Given the description of an element on the screen output the (x, y) to click on. 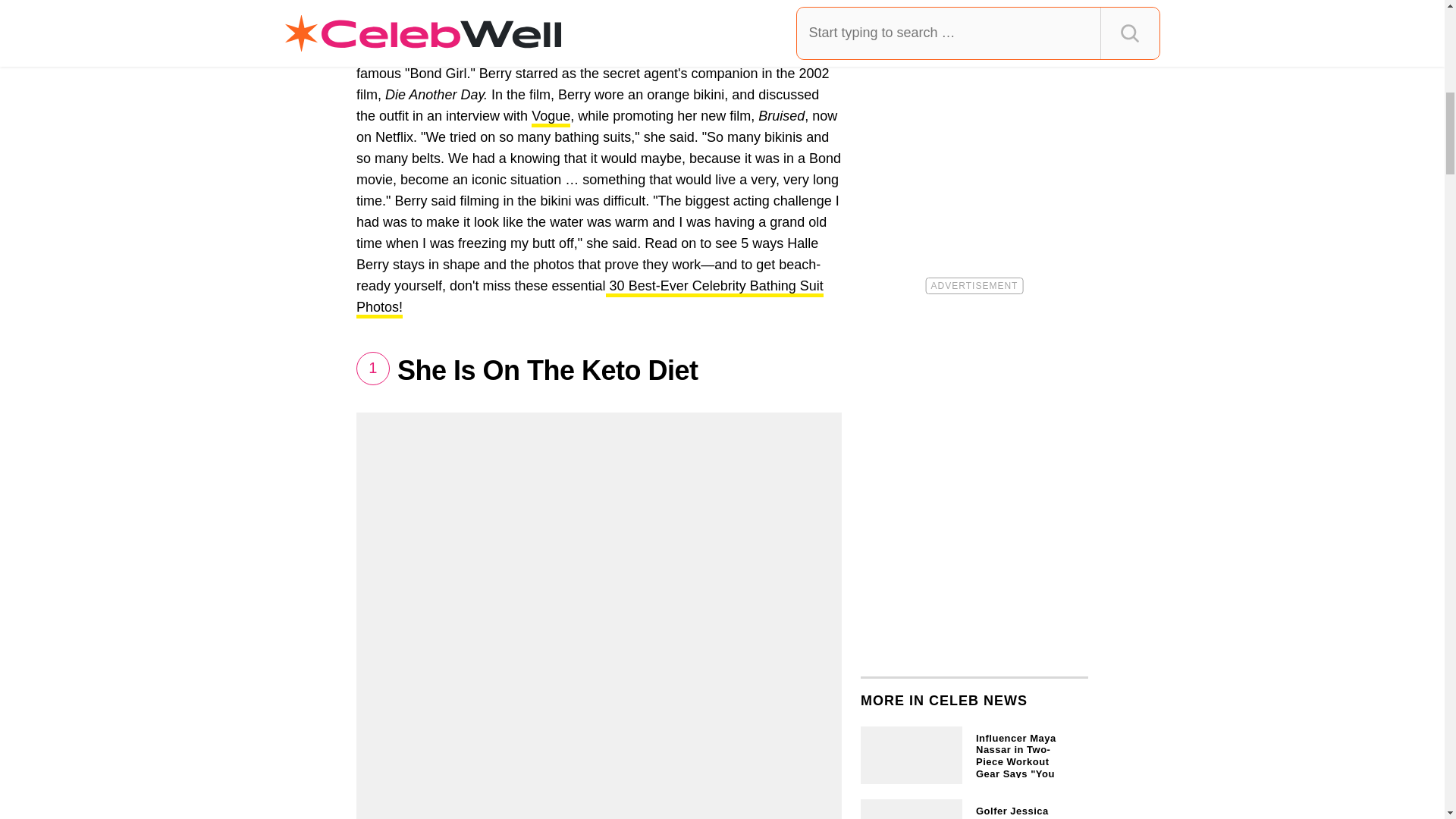
Share on Twitter (515, 13)
Twitter (515, 13)
Facebook (407, 13)
Vogue (550, 117)
Share on Facebook (407, 13)
30 Best-Ever Celebrity Bathing Suit Photos! (590, 298)
Share via e-mail (587, 13)
